Given the description of an element on the screen output the (x, y) to click on. 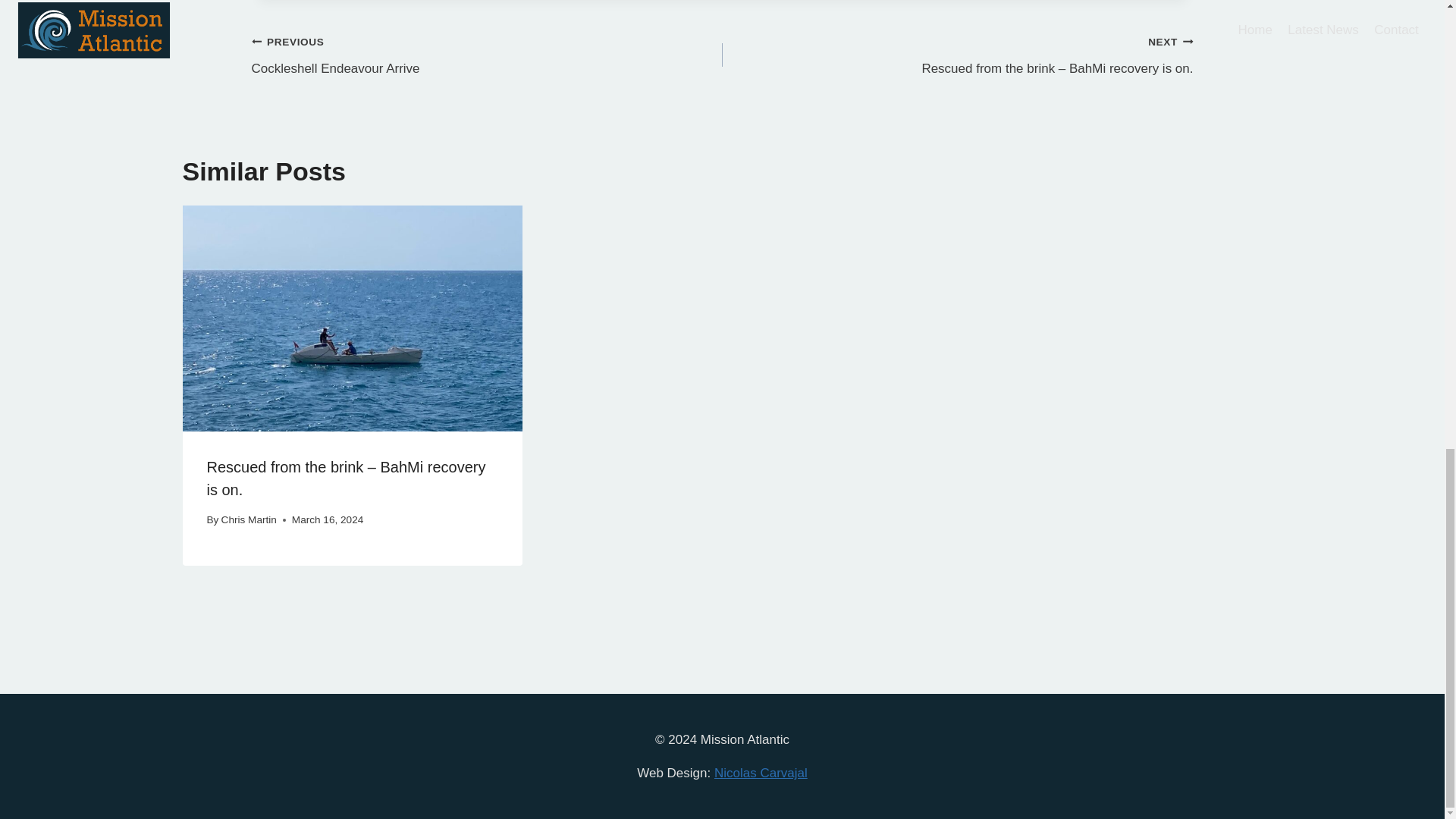
Nicolas Carvajal (761, 772)
Chris Martin (486, 54)
